Given the description of an element on the screen output the (x, y) to click on. 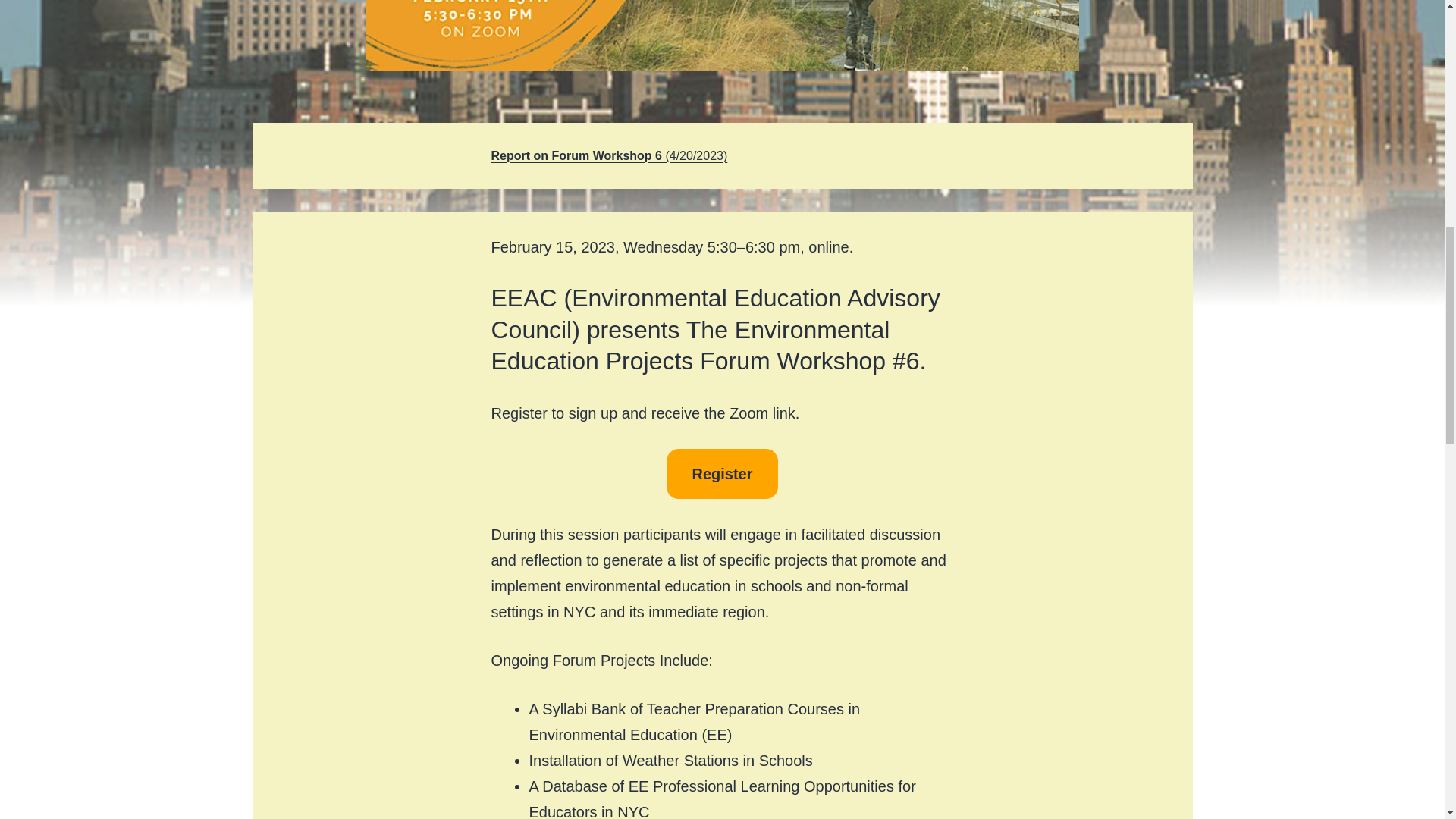
Register (721, 473)
